Given the description of an element on the screen output the (x, y) to click on. 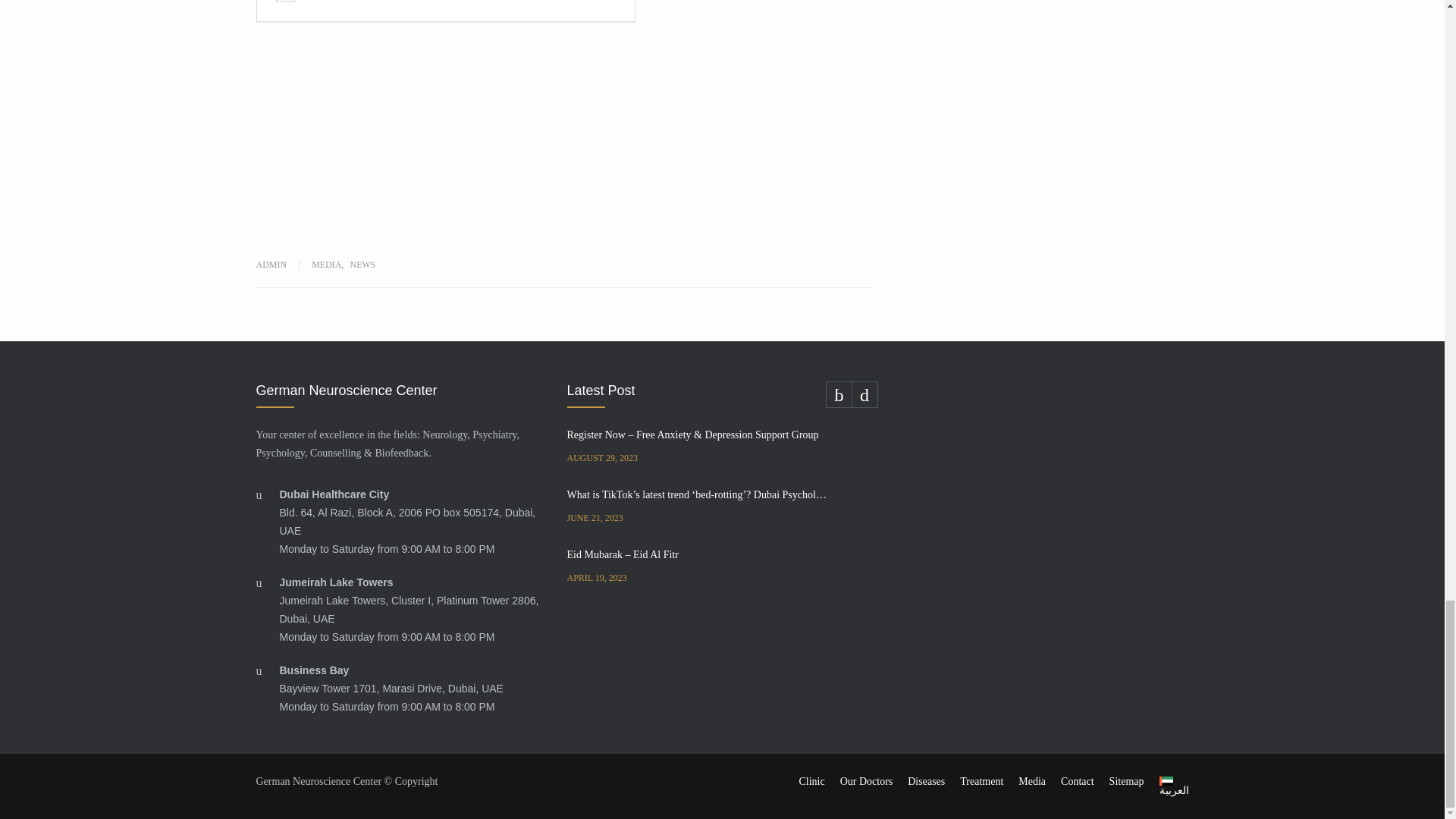
Latest Post (722, 393)
View all posts filed under Media (325, 264)
View all posts filed under News (362, 264)
